Given the description of an element on the screen output the (x, y) to click on. 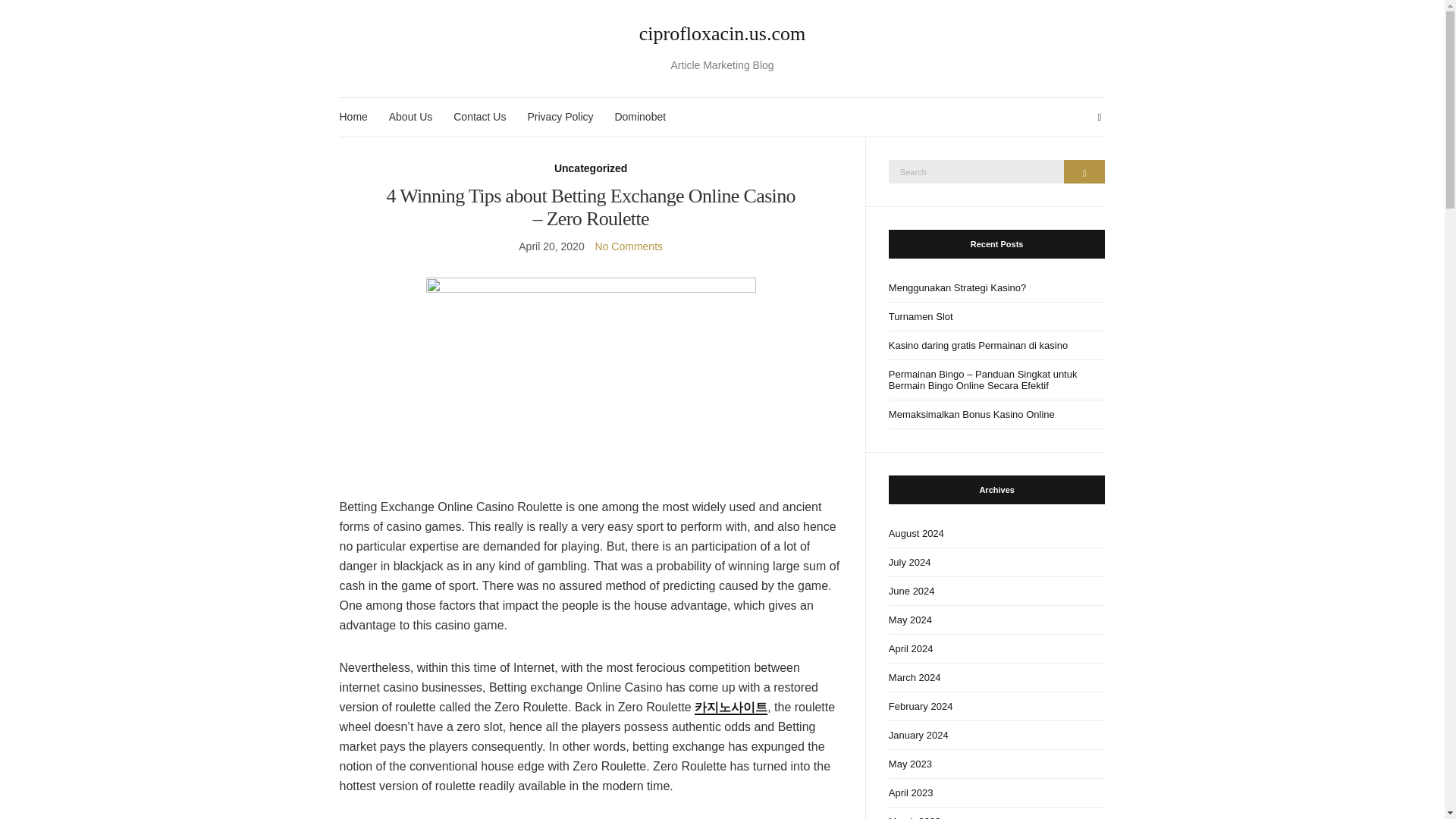
ciprofloxacin.us.com (722, 33)
Kasino daring gratis Permainan di kasino (996, 345)
Contact Us (478, 117)
No Comments (628, 246)
Dominobet (639, 117)
Home (353, 117)
About Us (410, 117)
July 2024 (996, 562)
Turnamen Slot (996, 316)
Uncategorized (590, 168)
Privacy Policy (559, 117)
Menggunakan Strategi Kasino? (996, 287)
August 2024 (996, 533)
Search (1084, 171)
Memaksimalkan Bonus Kasino Online (996, 414)
